Given the description of an element on the screen output the (x, y) to click on. 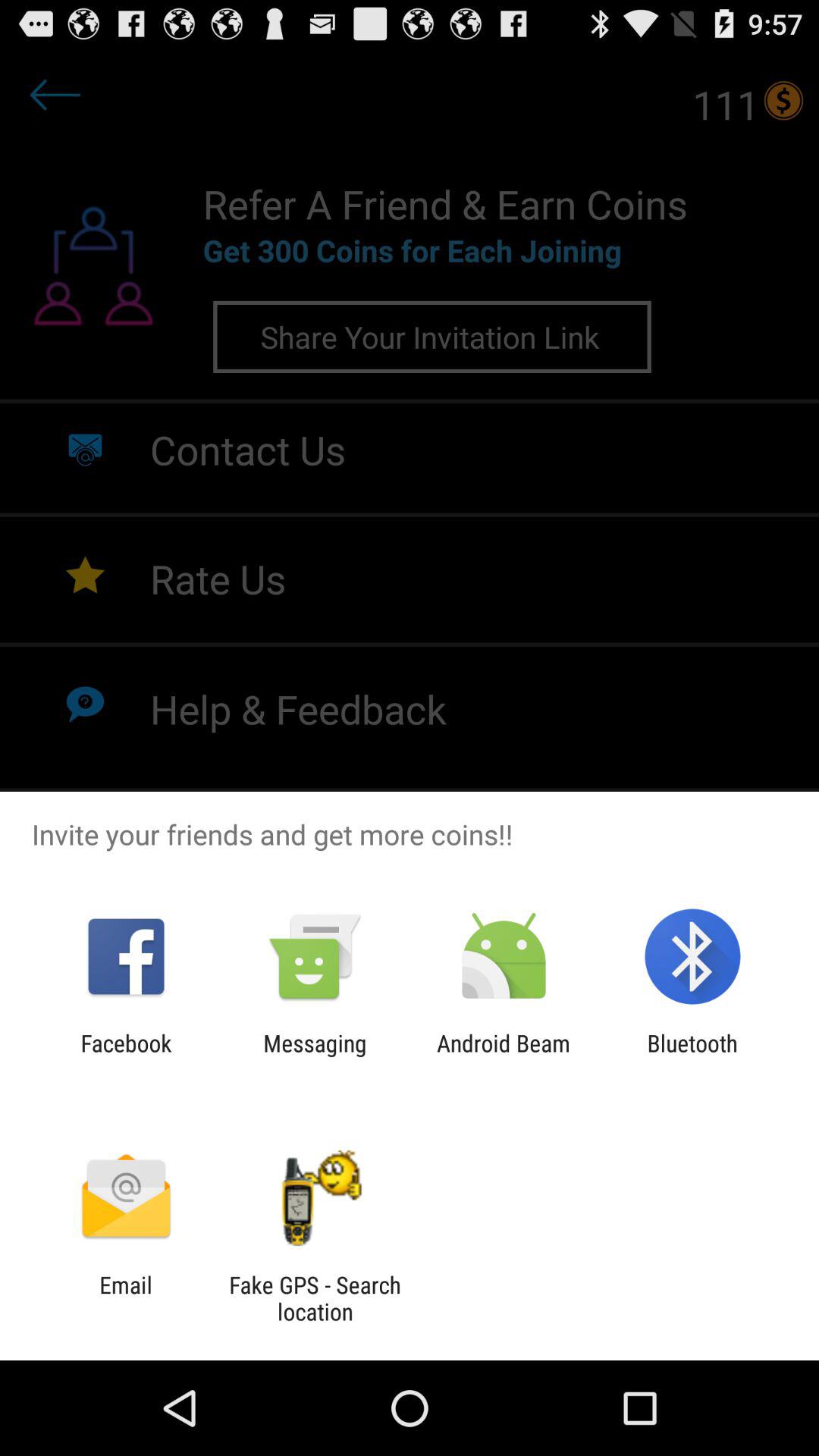
turn off the app next to the bluetooth app (503, 1056)
